Given the description of an element on the screen output the (x, y) to click on. 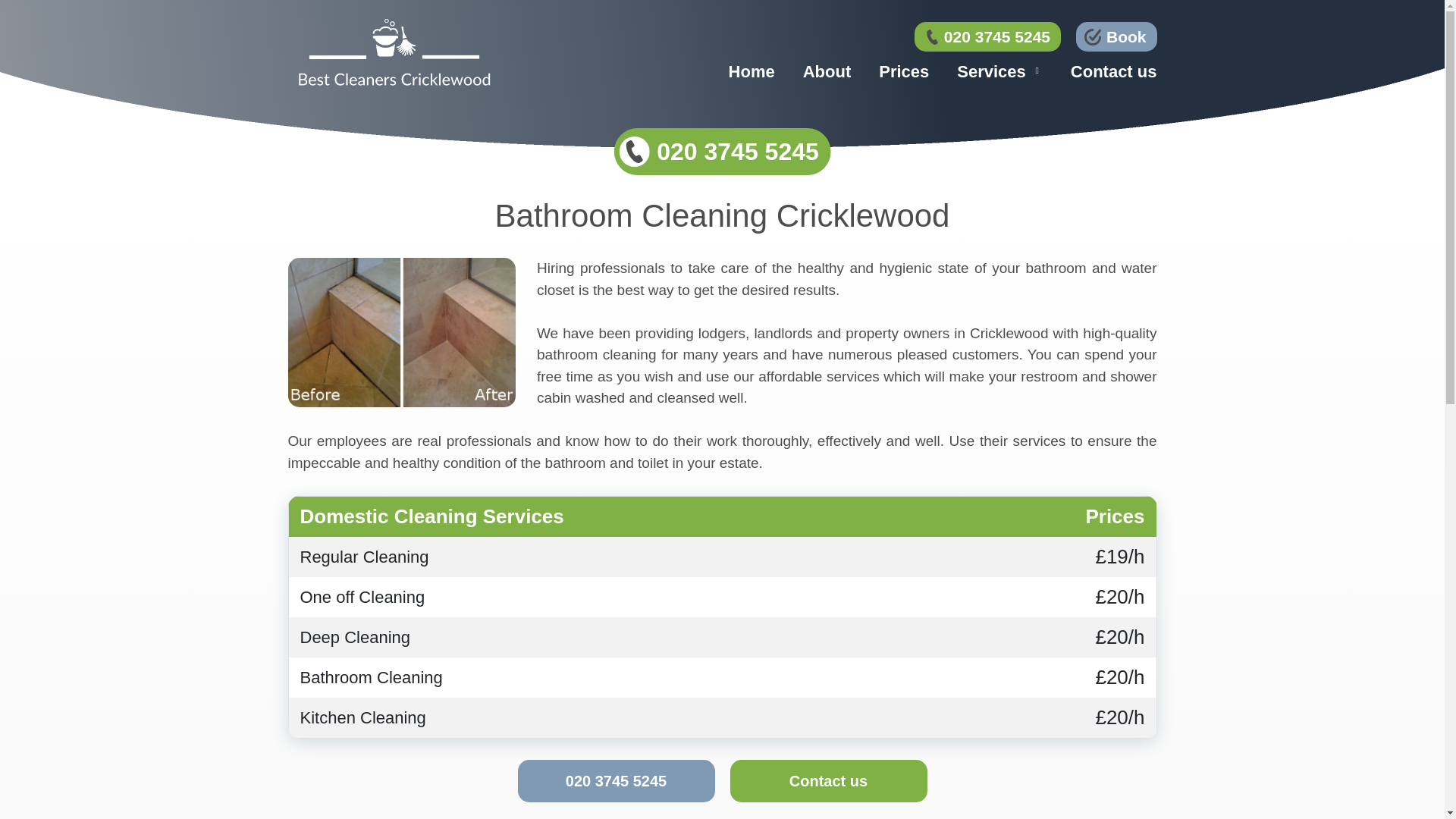
Book (1116, 37)
Contact us (827, 781)
Contact us (1113, 71)
Services (991, 71)
Prices (903, 71)
About (827, 71)
020 3745 5245 (987, 37)
020 3745 5245 (721, 151)
Home (751, 71)
Company Logo (394, 52)
